Given the description of an element on the screen output the (x, y) to click on. 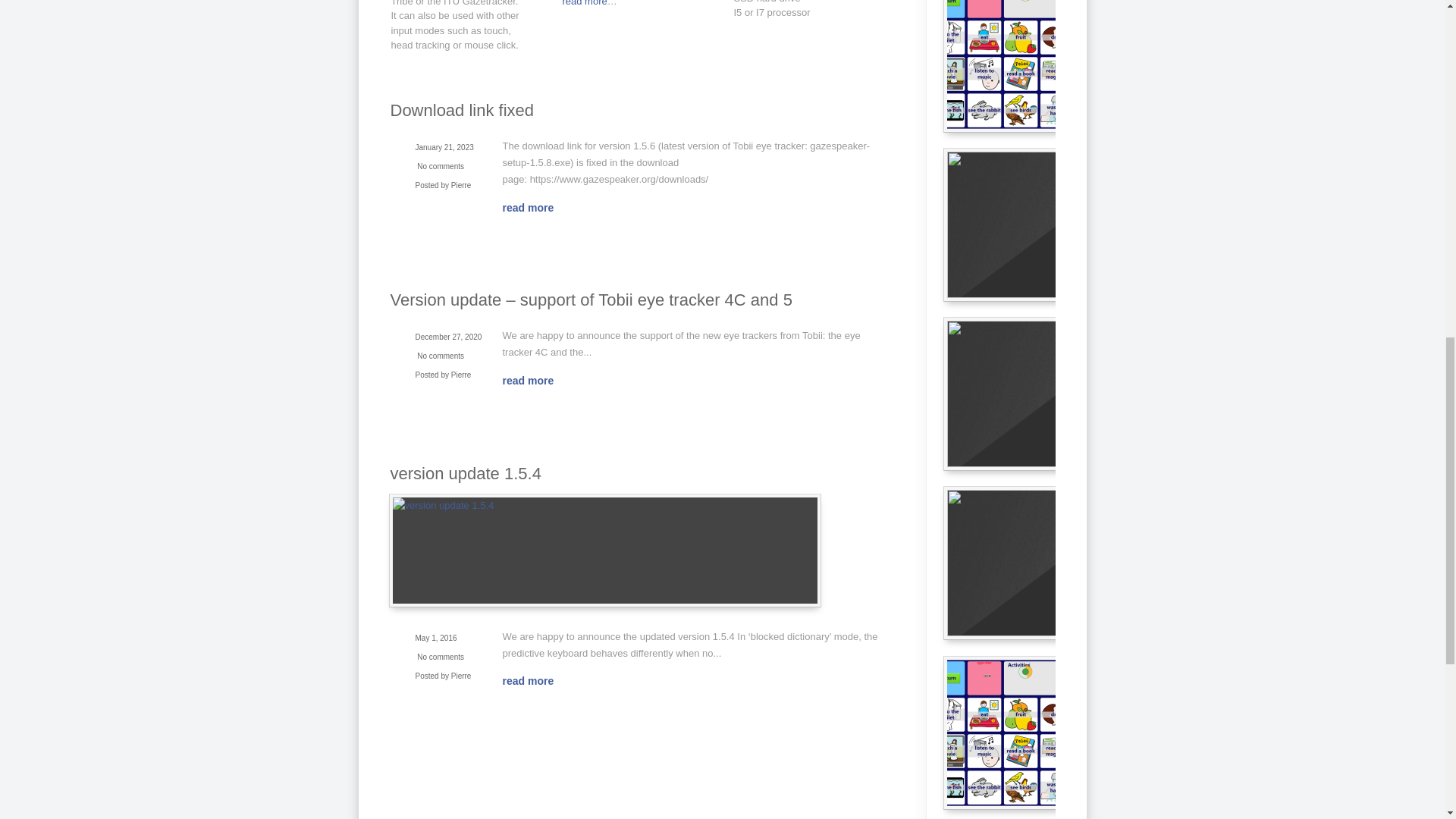
4.3 Manage your contacts (1056, 562)
1.4 Eye Tracking (1056, 393)
read more (584, 3)
more devices (584, 3)
version update 1.5.4 (465, 473)
Download link fixed (462, 109)
Posted by Pierre (442, 372)
read more (535, 380)
read more (535, 680)
read more (535, 207)
